Given the description of an element on the screen output the (x, y) to click on. 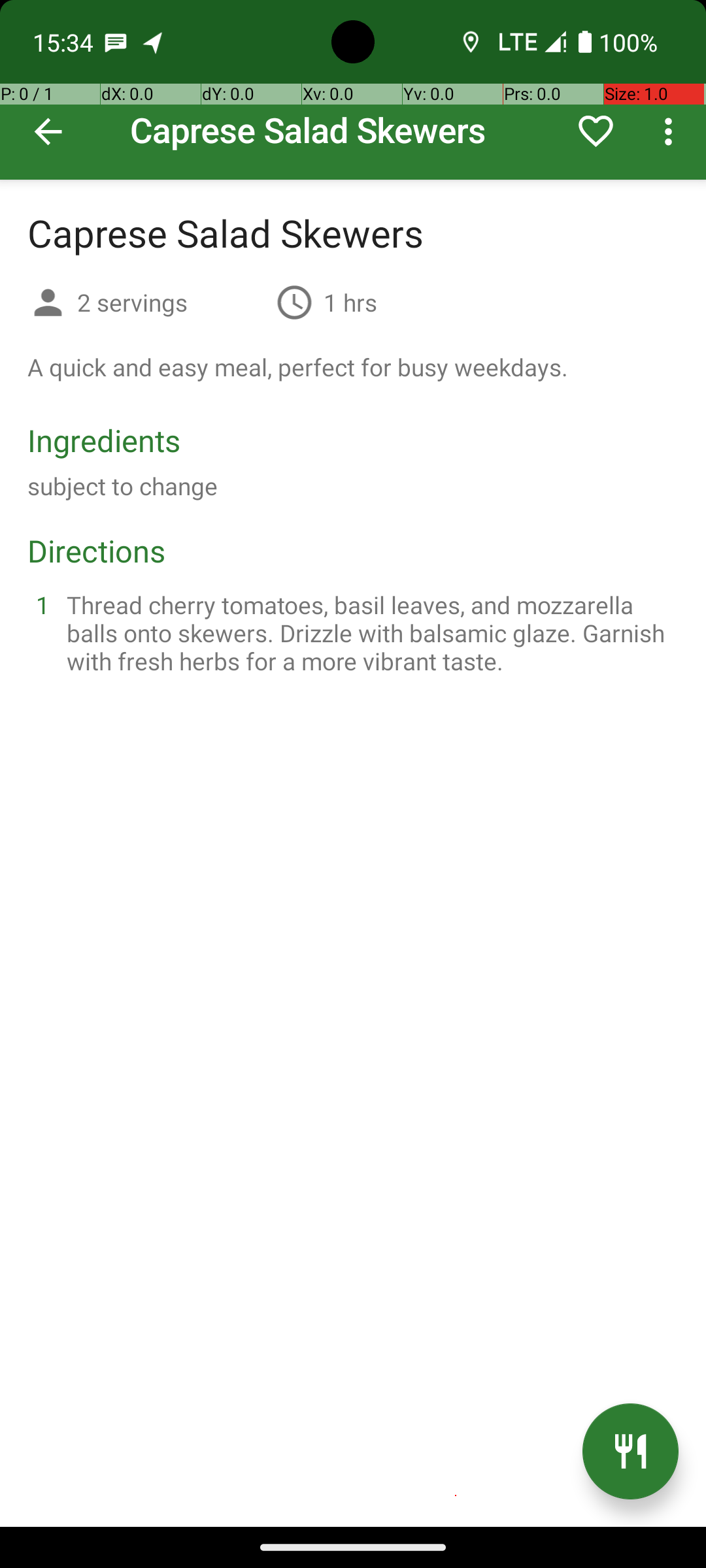
Thread cherry tomatoes, basil leaves, and mozzarella balls onto skewers. Drizzle with balsamic glaze. Garnish with fresh herbs for a more vibrant taste. Element type: android.widget.TextView (368, 632)
